Given the description of an element on the screen output the (x, y) to click on. 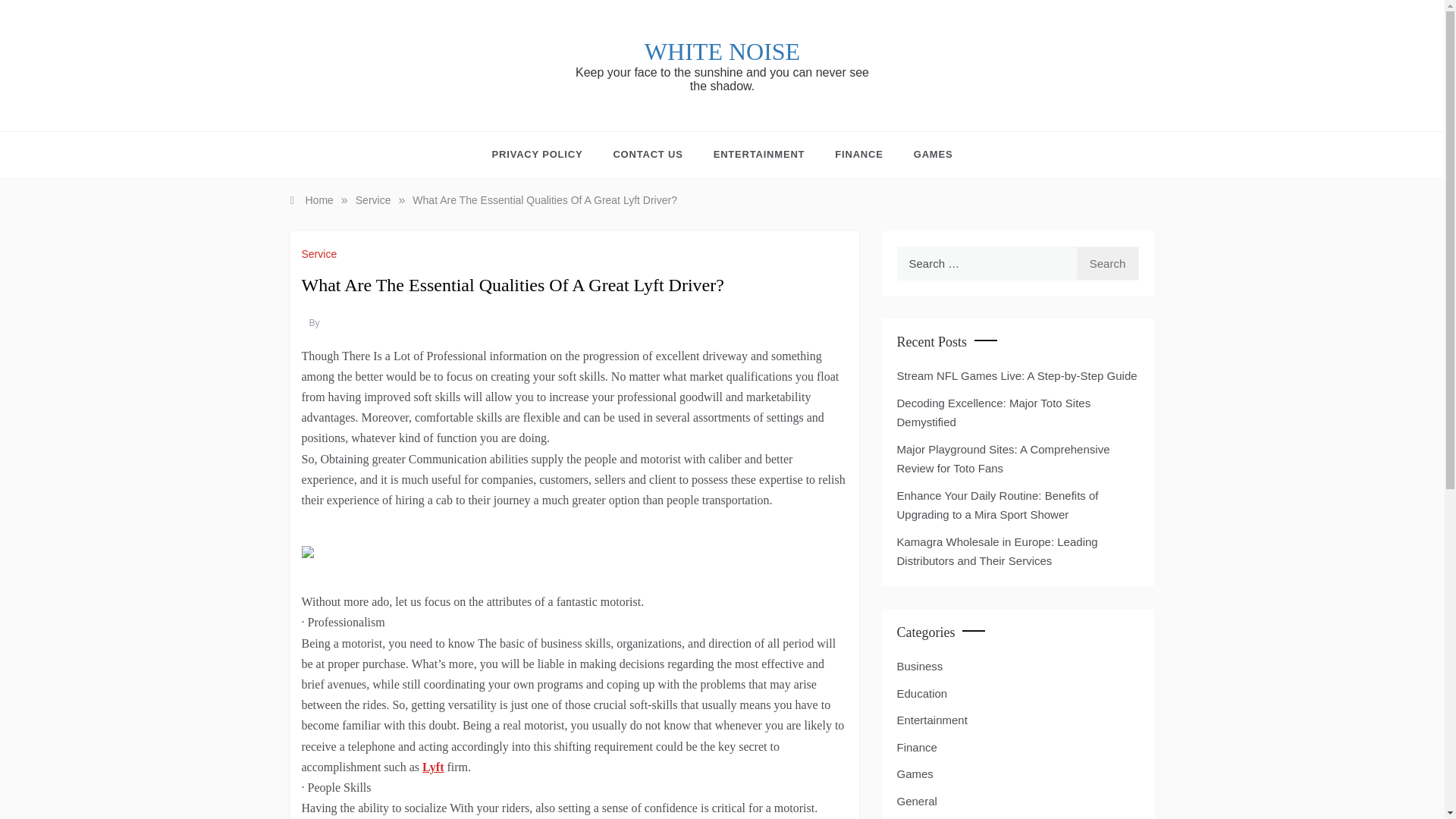
Business (919, 666)
Lyft (433, 766)
Service (373, 200)
General (916, 801)
Search (1107, 263)
Education (921, 693)
PRIVACY POLICY (545, 154)
Entertainment (931, 720)
Search (1107, 263)
ENTERTAINMENT (759, 154)
Finance (916, 747)
What Are The Essential Qualities Of A Great Lyft Driver? (544, 200)
Stream NFL Games Live: A Step-by-Step Guide (1016, 375)
